Given the description of an element on the screen output the (x, y) to click on. 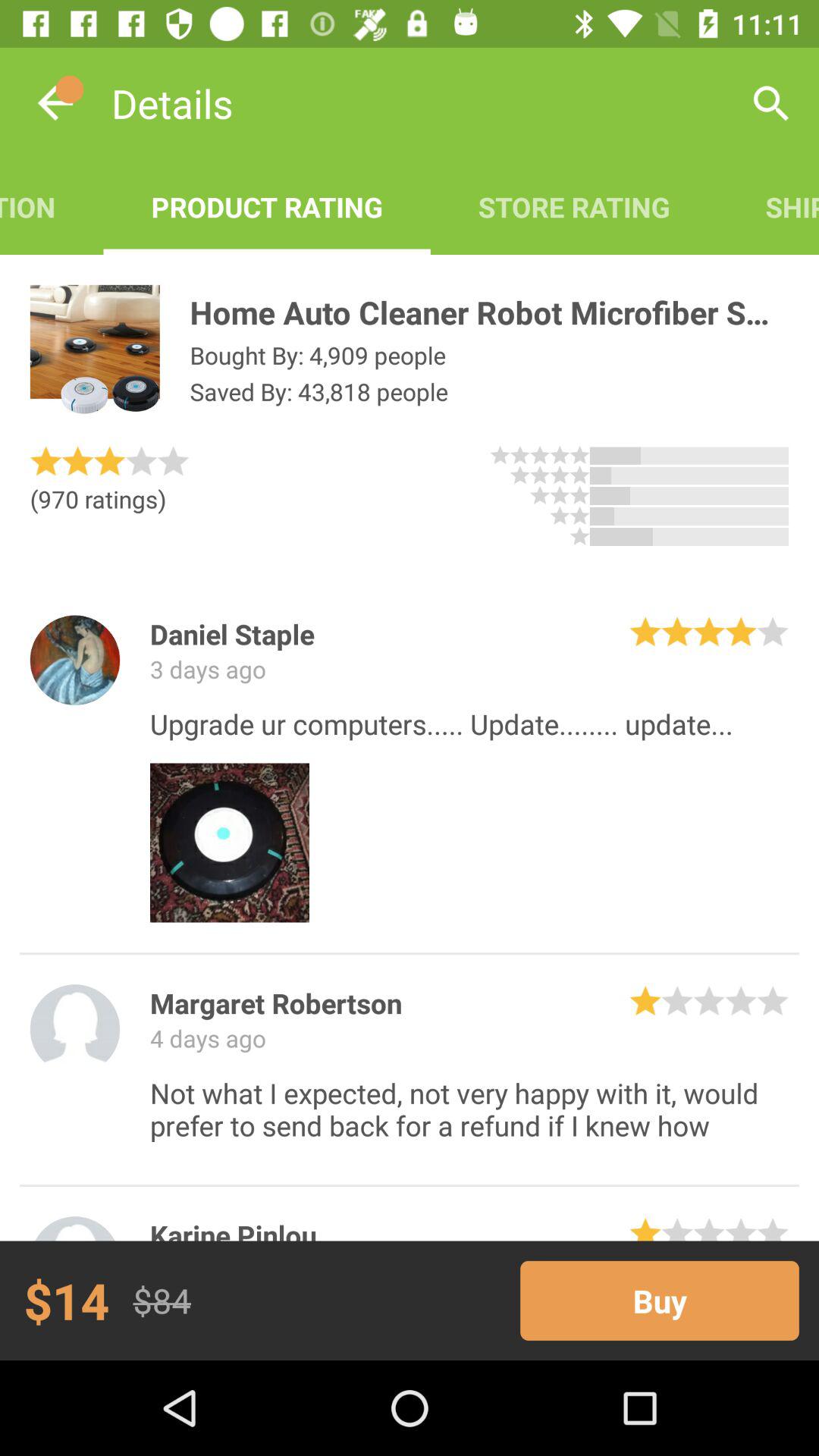
choose app next to product rating (51, 206)
